Given the description of an element on the screen output the (x, y) to click on. 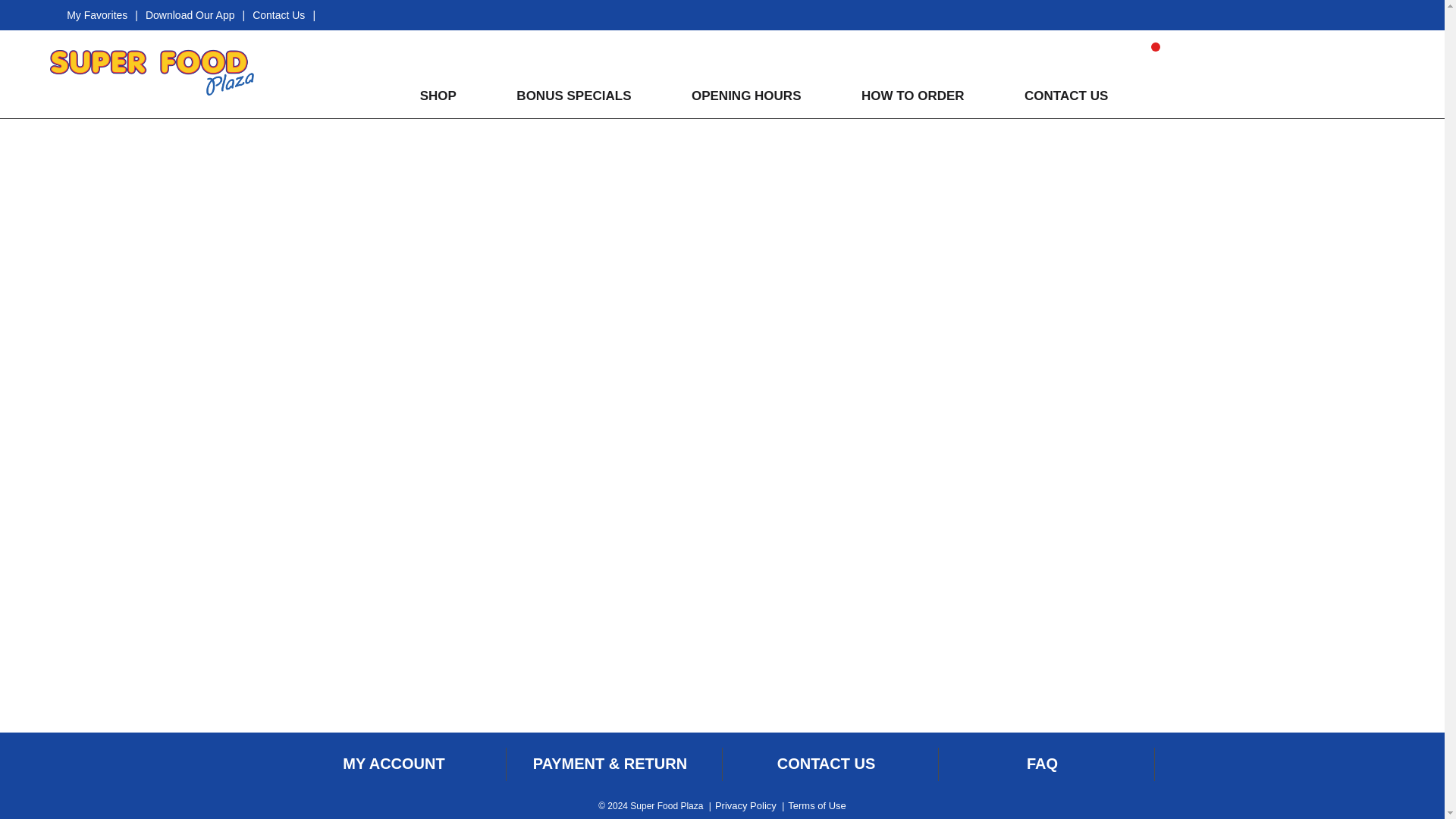
Terms of Use (816, 805)
Download Our App (189, 15)
My Favorites (97, 15)
CONTACT US (826, 764)
SHOP (436, 95)
FAQ (1042, 764)
HOW TO ORDER (911, 95)
OPENING HOURS (744, 95)
Privacy Policy (745, 805)
BONUS SPECIALS (572, 95)
Super Food Plaza (151, 67)
Contact Us (277, 15)
CONTACT US (1064, 95)
MY ACCOUNT (393, 764)
